Given the description of an element on the screen output the (x, y) to click on. 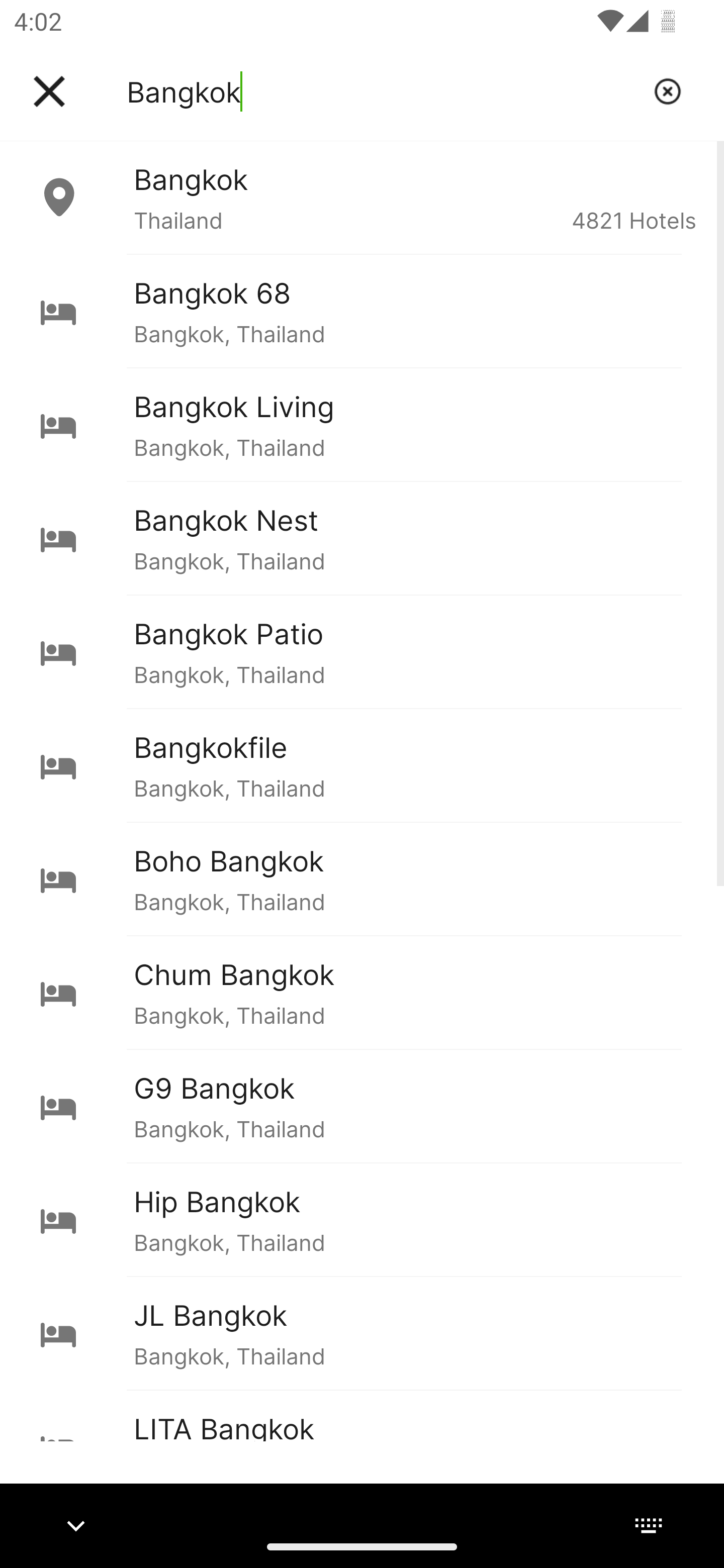
Bangkok (382, 91)
Bangkok Thailand 4821 Hotels (362, 197)
Bangkok 68 Bangkok, Thailand (362, 310)
Bangkok Living Bangkok, Thailand (362, 424)
Bangkok Nest Bangkok, Thailand (362, 537)
Bangkok Patio Bangkok, Thailand (362, 651)
Bangkokfile Bangkok, Thailand (362, 764)
Boho Bangkok Bangkok, Thailand (362, 878)
Chum Bangkok Bangkok, Thailand (362, 992)
G9 Bangkok Bangkok, Thailand (362, 1105)
Hip Bangkok Bangkok, Thailand (362, 1219)
JL Bangkok Bangkok, Thailand (362, 1332)
